Given the description of an element on the screen output the (x, y) to click on. 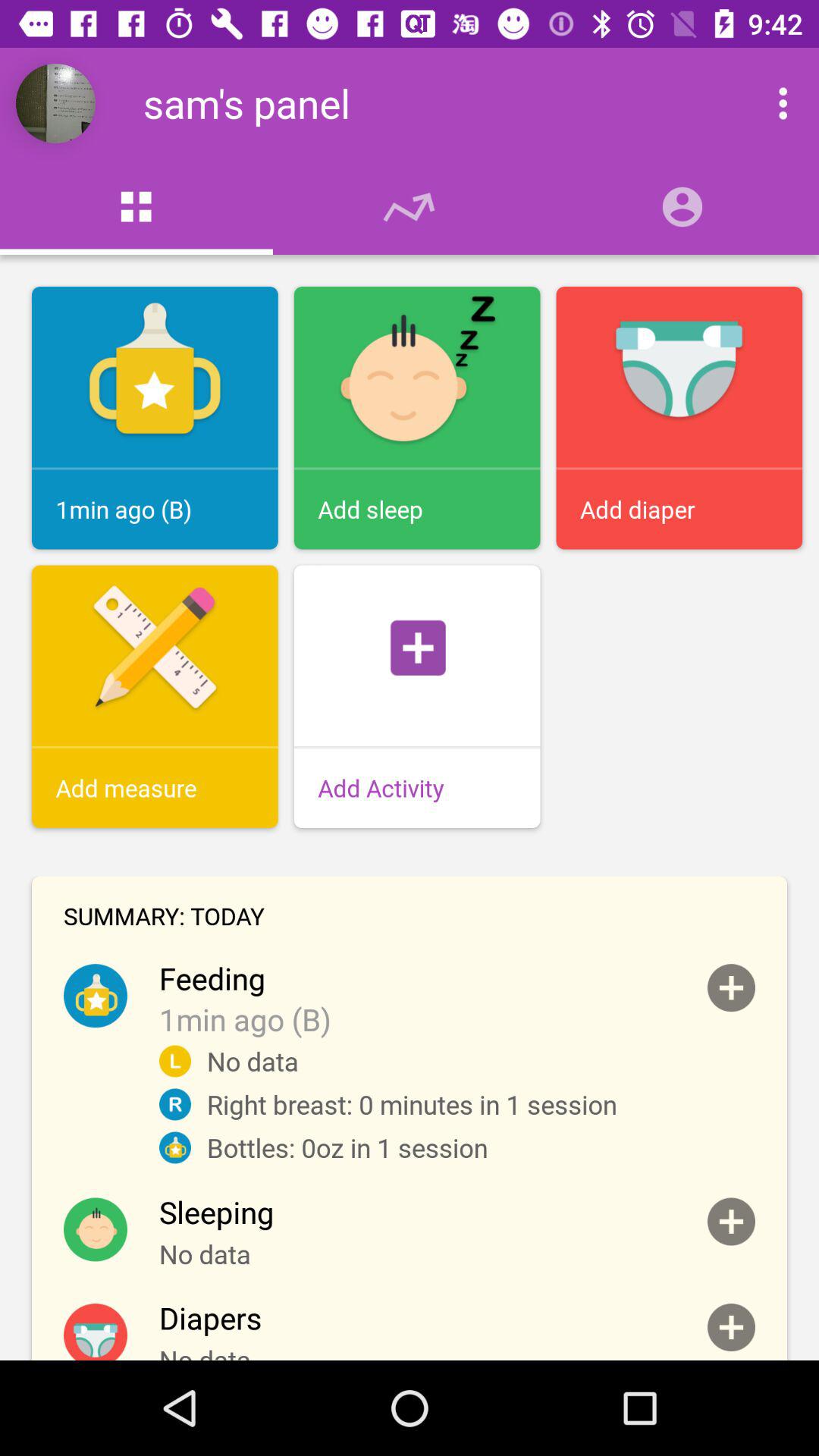
add feeding data (731, 987)
